Given the description of an element on the screen output the (x, y) to click on. 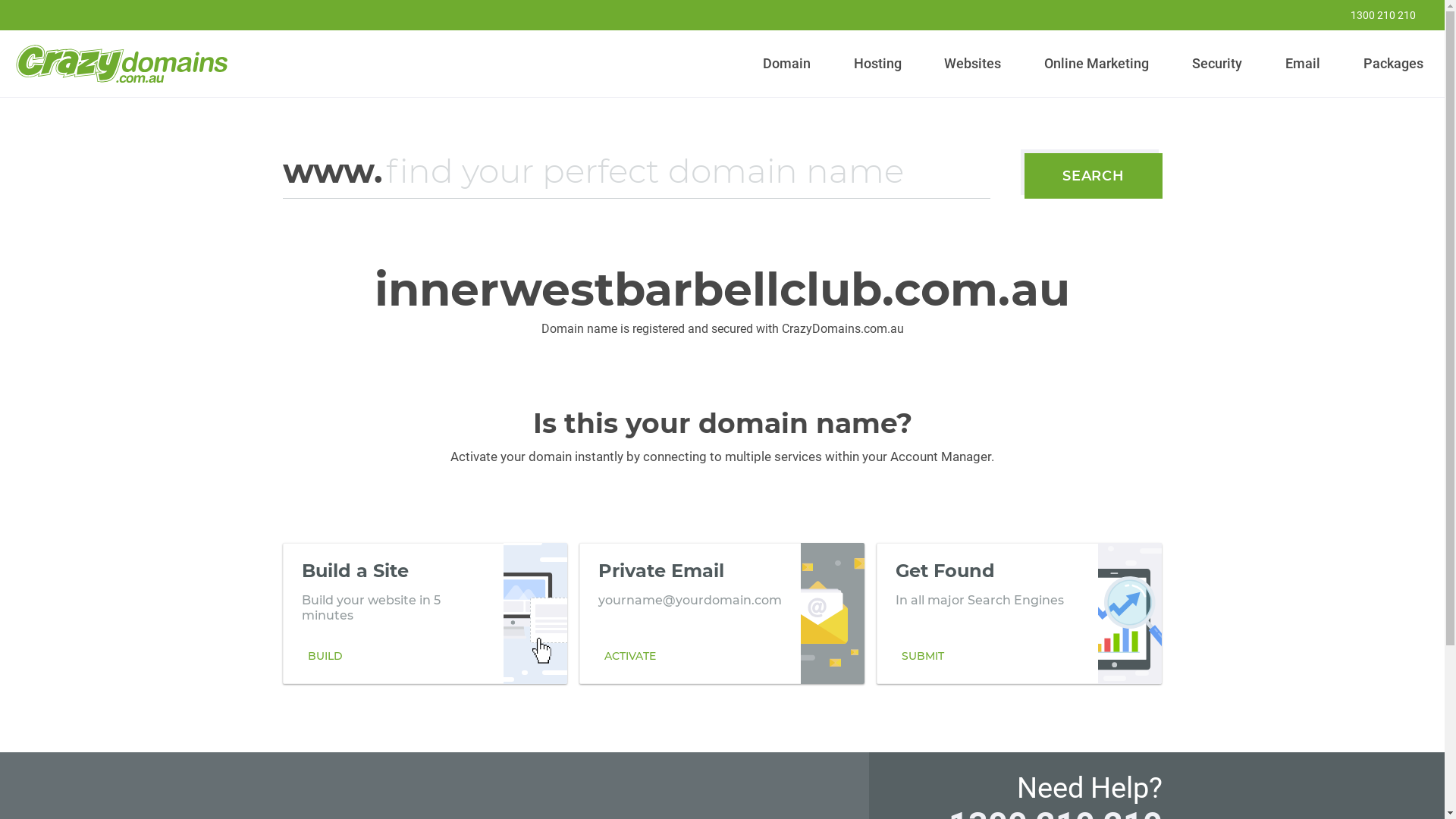
Security Element type: text (1217, 63)
1300 210 210 Element type: text (1373, 15)
SEARCH Element type: text (1092, 175)
Get Found
In all major Search Engines
SUBMIT Element type: text (1018, 613)
Build a Site
Build your website in 5 minutes
BUILD Element type: text (424, 613)
Websites Element type: text (972, 63)
Packages Element type: text (1392, 63)
Hosting Element type: text (877, 63)
Online Marketing Element type: text (1096, 63)
Domain Element type: text (786, 63)
Email Element type: text (1302, 63)
Private Email
yourname@yourdomain.com
ACTIVATE Element type: text (721, 613)
